Given the description of an element on the screen output the (x, y) to click on. 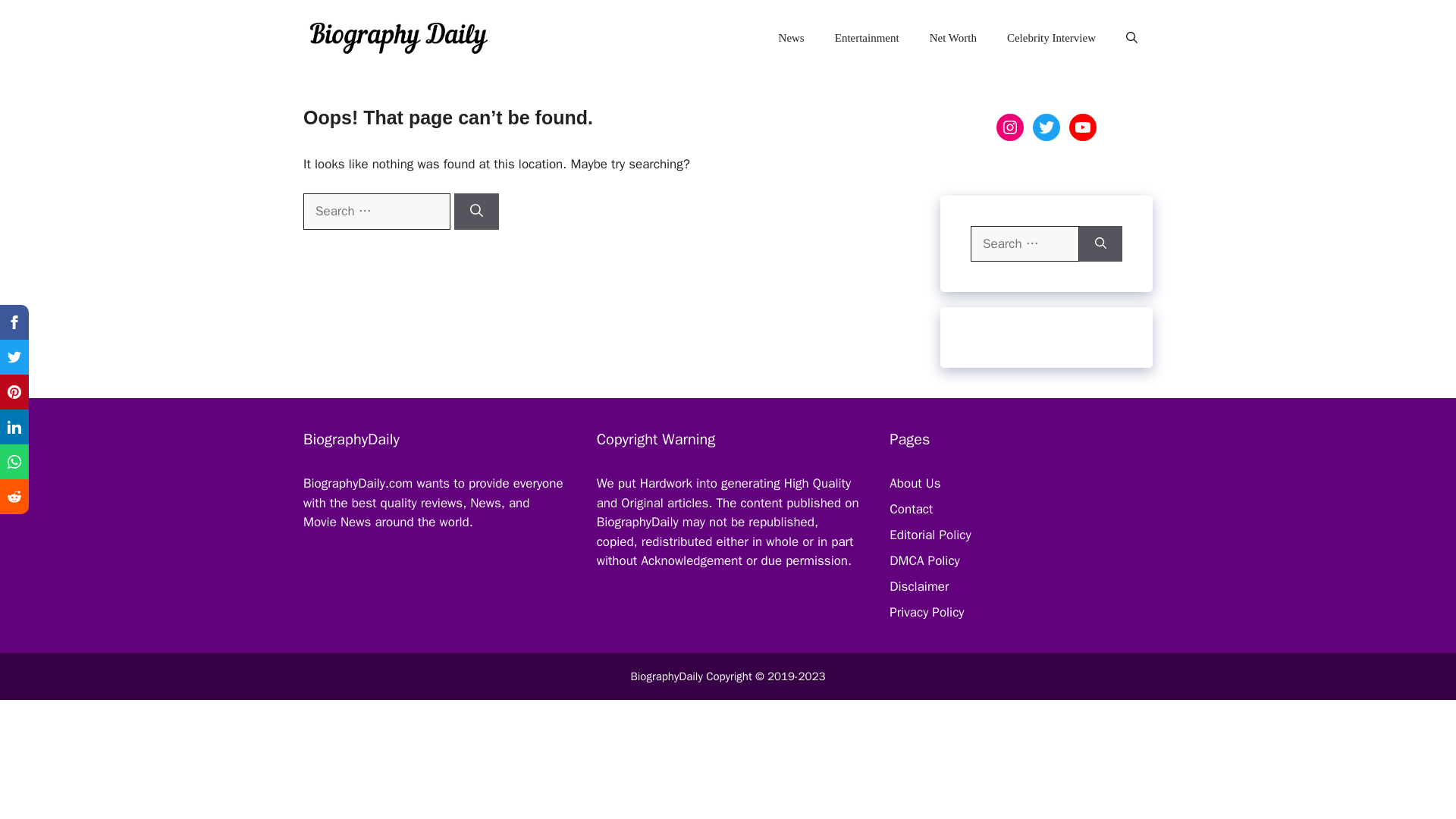
Search for: (1024, 244)
Search for: (375, 211)
Entertainment (866, 37)
DMCA Policy (924, 560)
Twitter (1045, 126)
YouTube (1082, 126)
Instagram (1009, 126)
Editorial Policy (930, 534)
Disclaimer (919, 586)
Net Worth (952, 37)
